Given the description of an element on the screen output the (x, y) to click on. 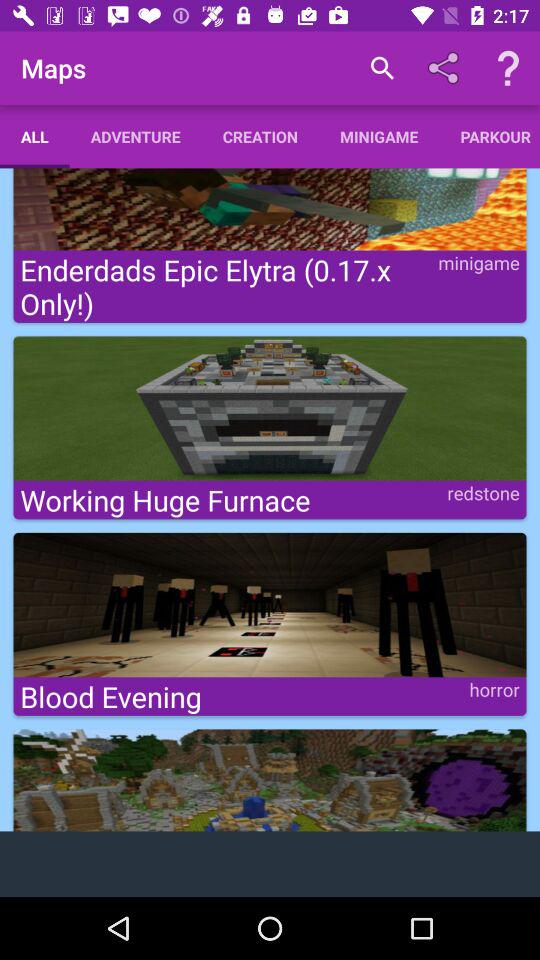
open the item to the left of the adventure (34, 136)
